Given the description of an element on the screen output the (x, y) to click on. 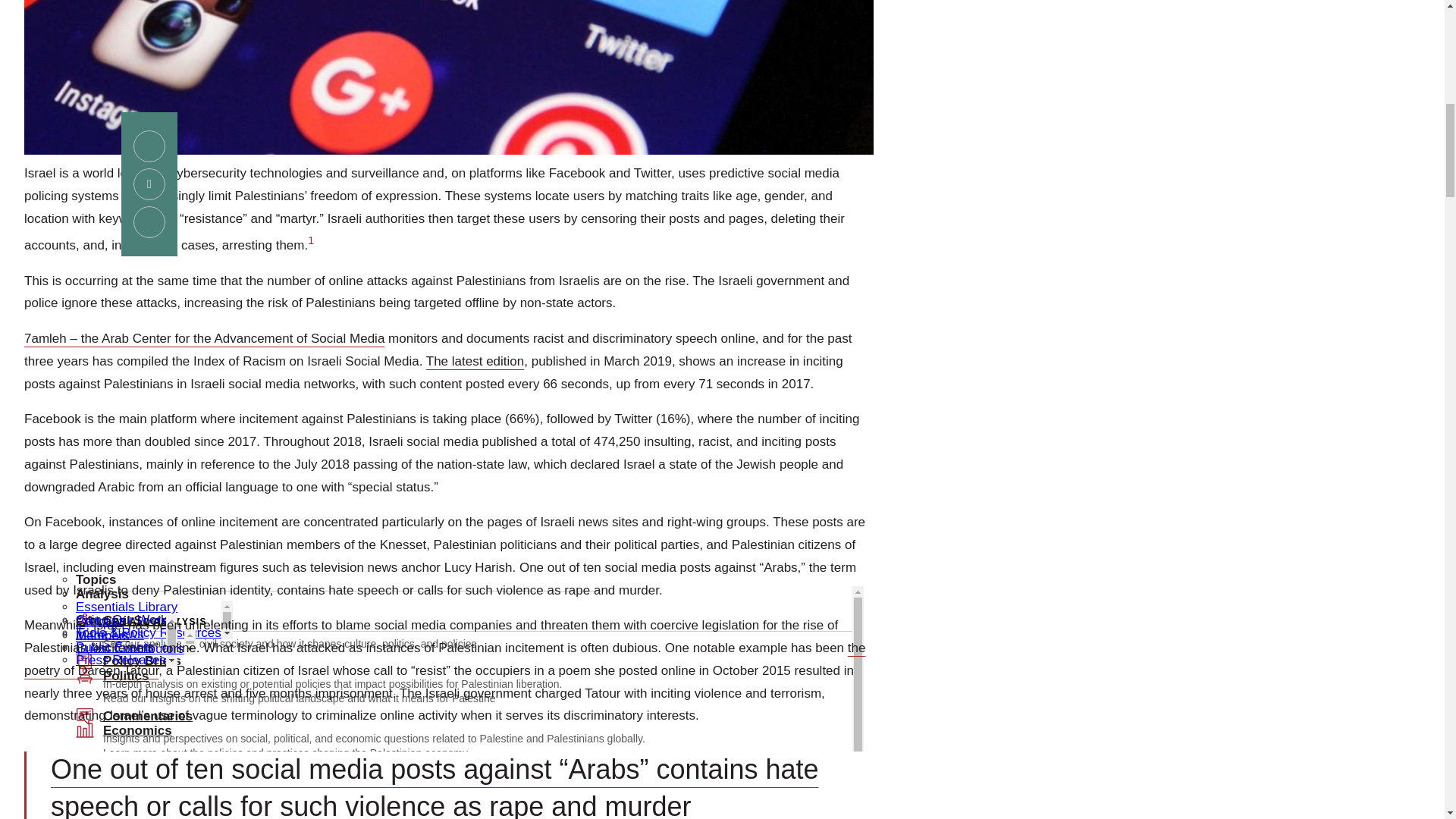
Policy Focuses (149, 60)
Policy Labs (138, 224)
Scenario Matrix (151, 169)
Reports (127, 115)
Commentary (112, 327)
Roundtables (141, 6)
